Given the description of an element on the screen output the (x, y) to click on. 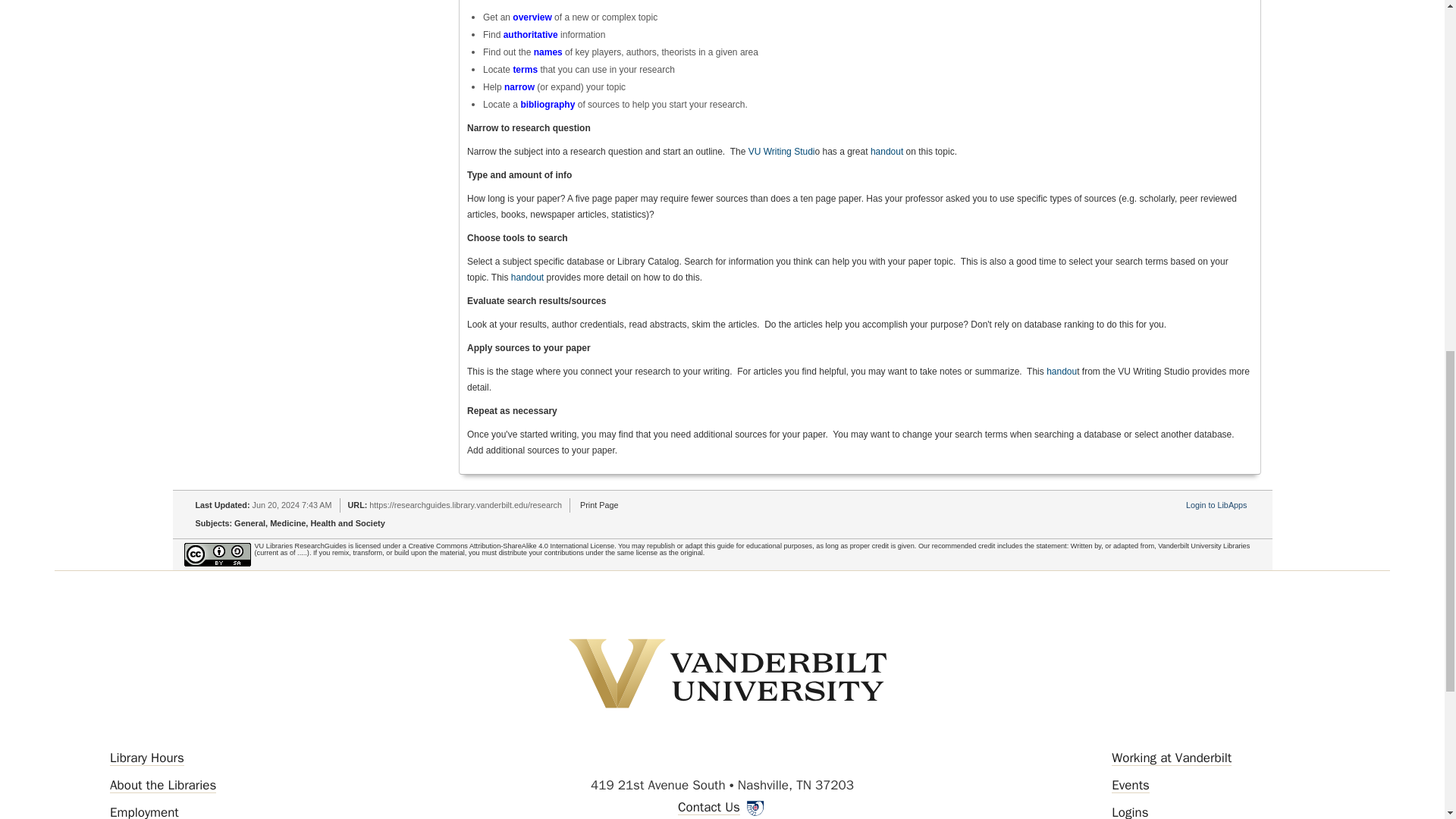
Login to LibApps (1216, 504)
handout (527, 276)
handou (1061, 371)
General (249, 522)
handout (886, 151)
VU Writing Studi (781, 151)
Print Page (597, 504)
Medicine, Health and Society (327, 522)
